Given the description of an element on the screen output the (x, y) to click on. 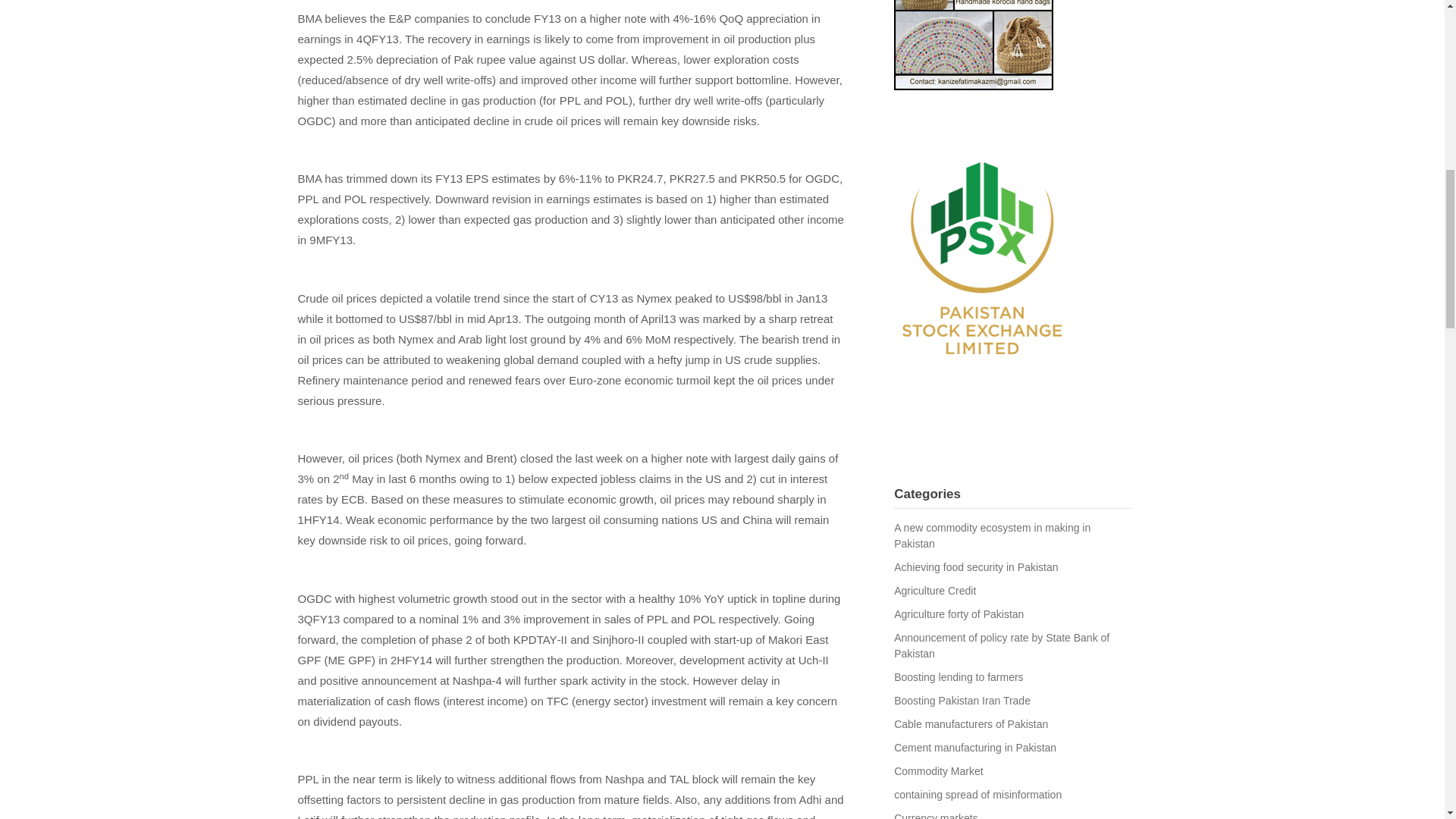
Cement manufacturing in Pakistan (975, 747)
Commodity Market (937, 770)
Agriculture Credit (934, 590)
Cable manufacturers of Pakistan (970, 724)
Announcement of policy rate by State Bank of Pakistan (1001, 645)
A new commodity ecosystem in making in Pakistan (991, 535)
Boosting Pakistan Iran Trade (961, 700)
Achieving food security in Pakistan (975, 567)
Currency markets (934, 815)
containing spread of misinformation (977, 794)
